Given the description of an element on the screen output the (x, y) to click on. 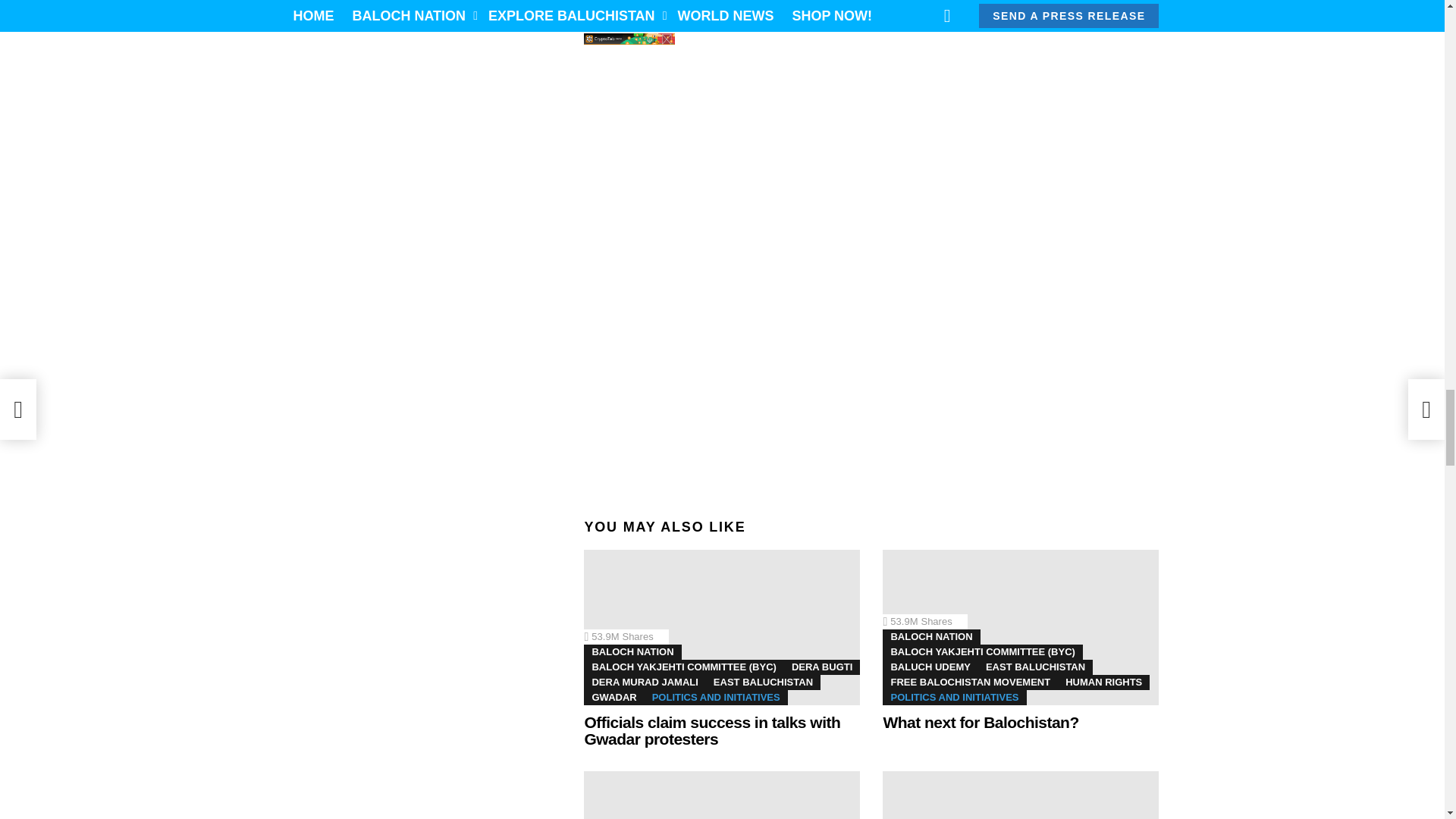
Officials claim success in talks with Gwadar protesters (1020, 627)
Trending (598, 564)
What next for Balochistan? (721, 803)
